Given the description of an element on the screen output the (x, y) to click on. 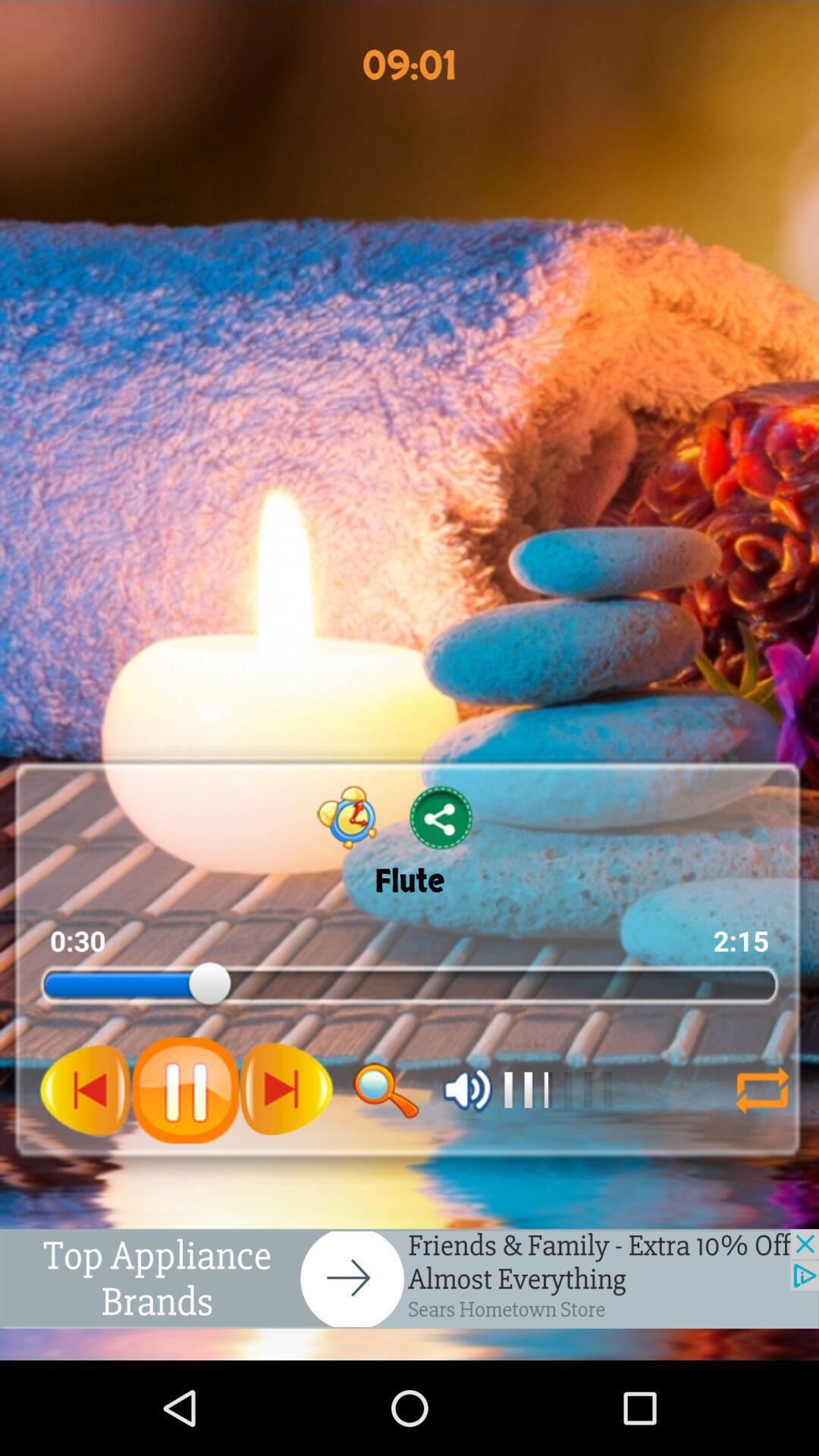
go to pause button (185, 1090)
